Given the description of an element on the screen output the (x, y) to click on. 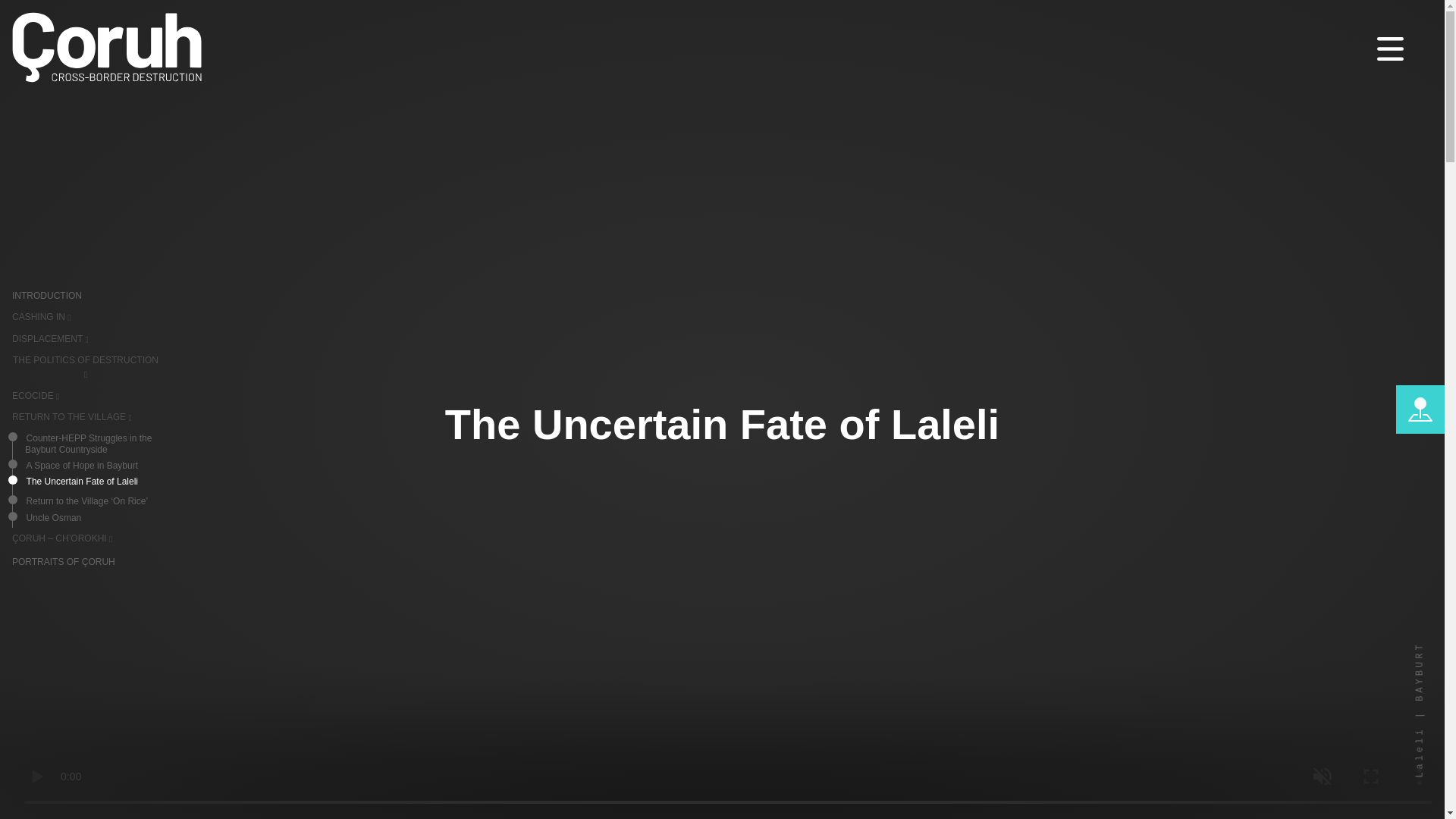
Uncle Osman (91, 519)
RETURN TO THE VILLAGE (71, 417)
INTRODUCTION (84, 297)
CASHING IN (41, 316)
Counter-HEPP Struggles in the Bayburt Countryside (91, 445)
A Space of Hope in Bayburt (91, 467)
The Uncertain Fate of Laleli (91, 483)
THE POLITICS OF DESTRUCTION (84, 366)
ECOCIDE (35, 395)
DISPLACEMENT (49, 338)
